Given the description of an element on the screen output the (x, y) to click on. 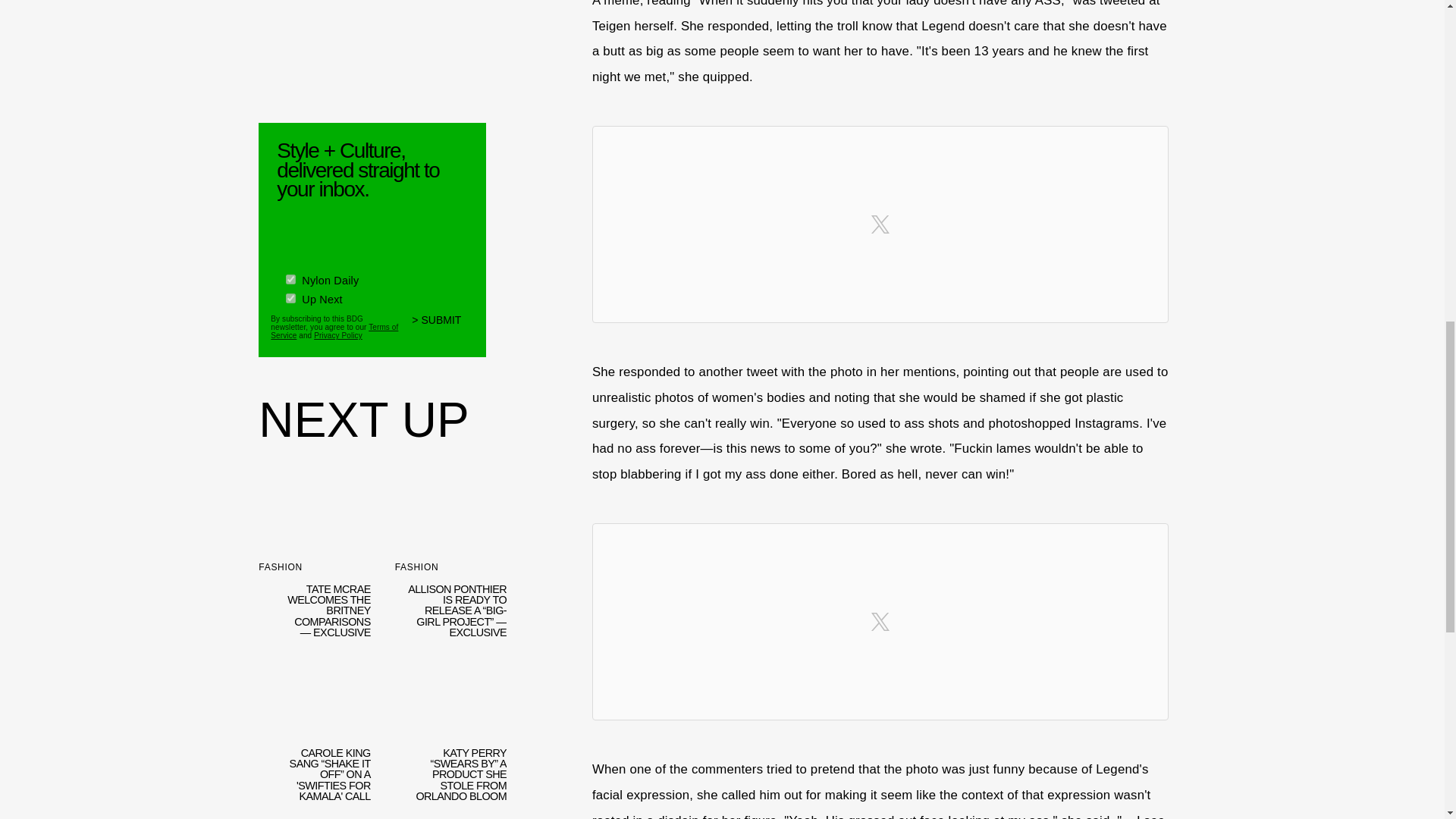
Privacy Policy (338, 335)
Terms of Service (333, 330)
SUBMIT (443, 327)
